Given the description of an element on the screen output the (x, y) to click on. 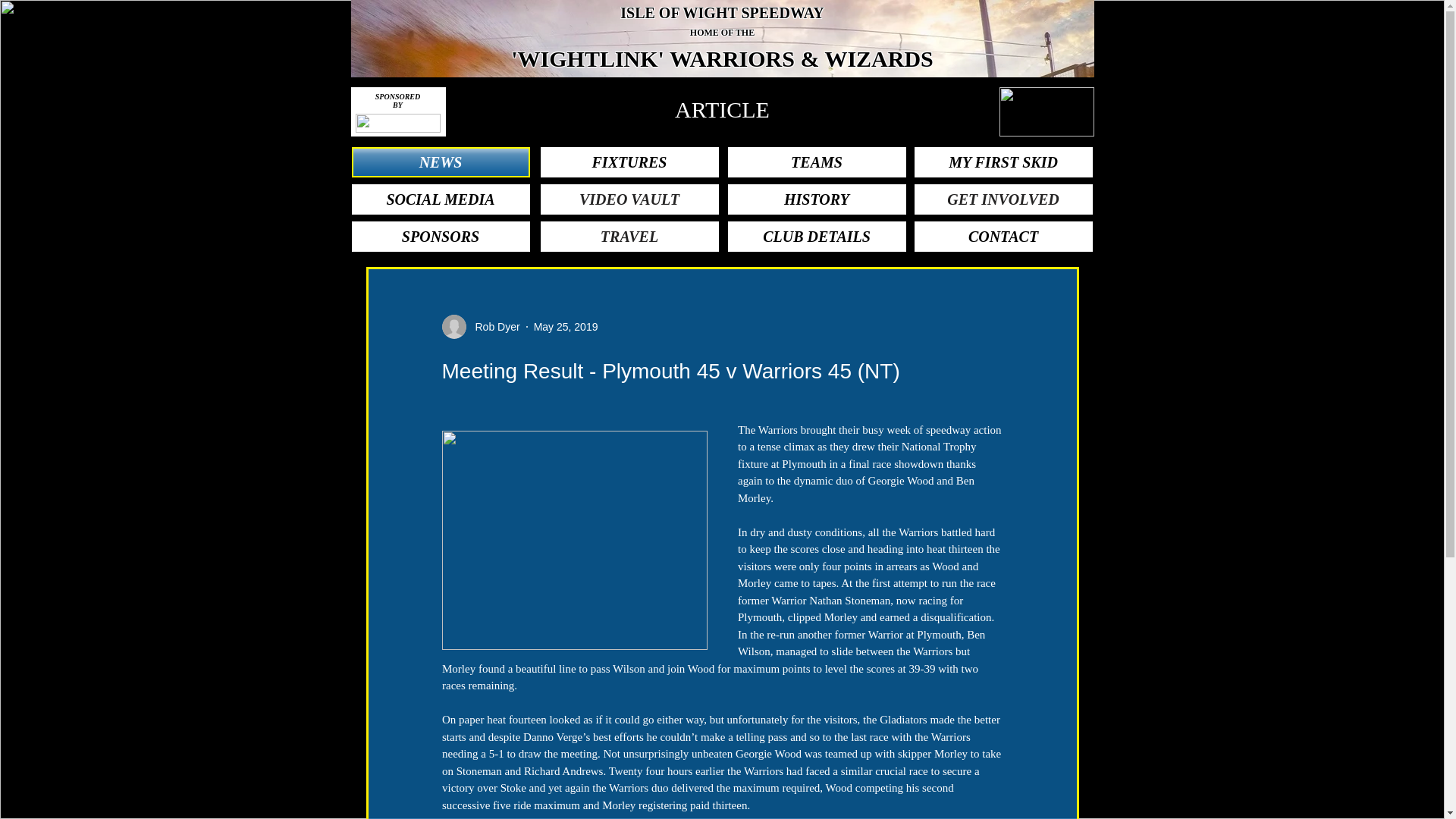
FIXTURES (628, 162)
CONTACT (1003, 236)
MY FIRST SKID (1003, 162)
HISTORY (816, 199)
GET INVOLVED (1003, 199)
CLUB DETAILS (816, 236)
SOCIAL MEDIA (440, 199)
BY (398, 104)
CLICK TO GO TO THE WIGHTLINK WEBSITE (397, 122)
VIDEO VAULT (628, 199)
May 25, 2019 (566, 326)
CLICK TO GO BACK TO WARRIORS NEWS (1046, 111)
SPONSORED (397, 96)
Rob Dyer (492, 326)
ISLE OF WIGHT WARRIORS IMAGE (721, 38)
